Given the description of an element on the screen output the (x, y) to click on. 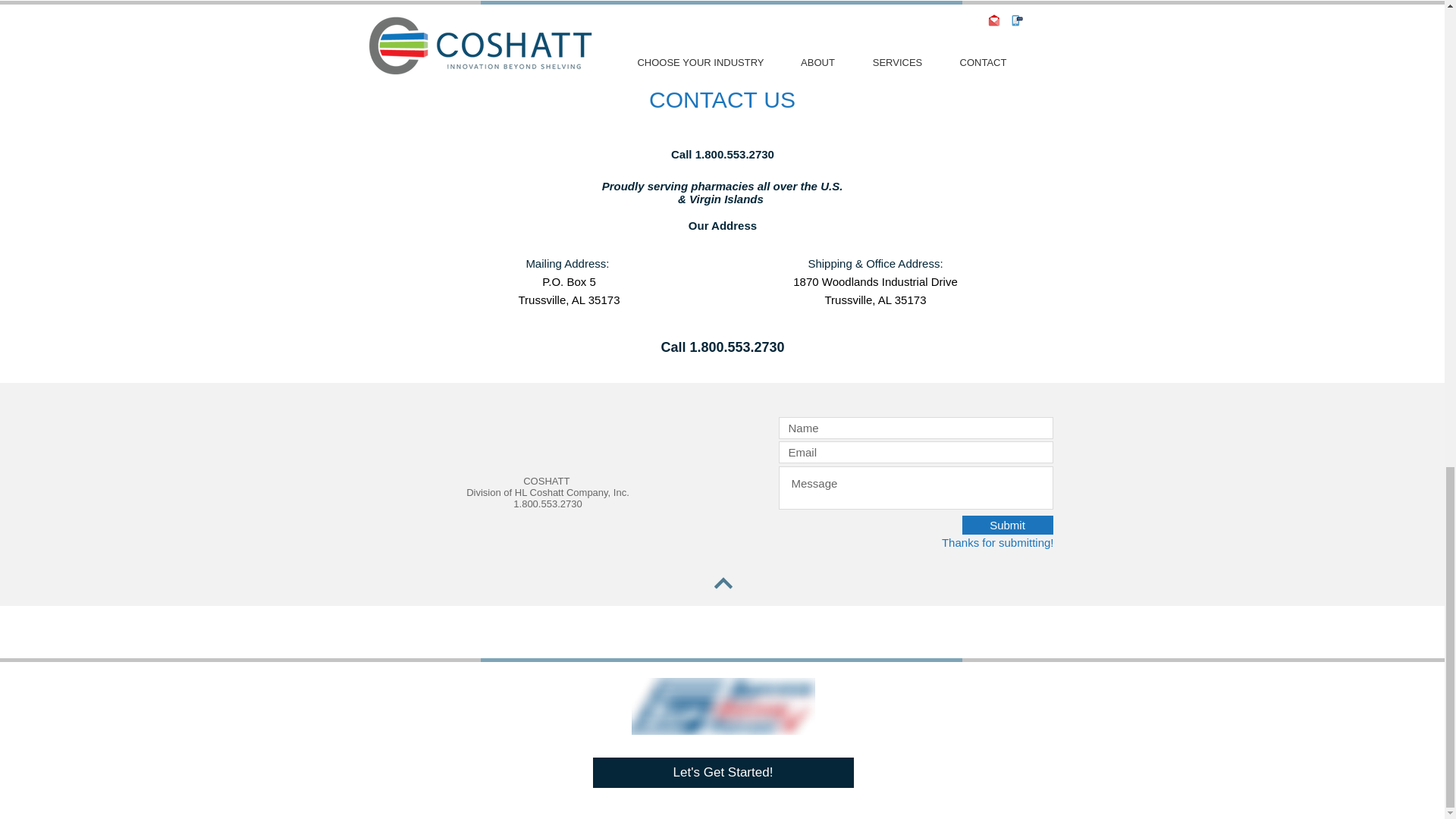
Let's Get Started! (722, 772)
Call 1.800.553.2730 (722, 346)
Call 1.800.553.2730 (722, 154)
CONTACT US (721, 99)
Submit (1006, 524)
